Given the description of an element on the screen output the (x, y) to click on. 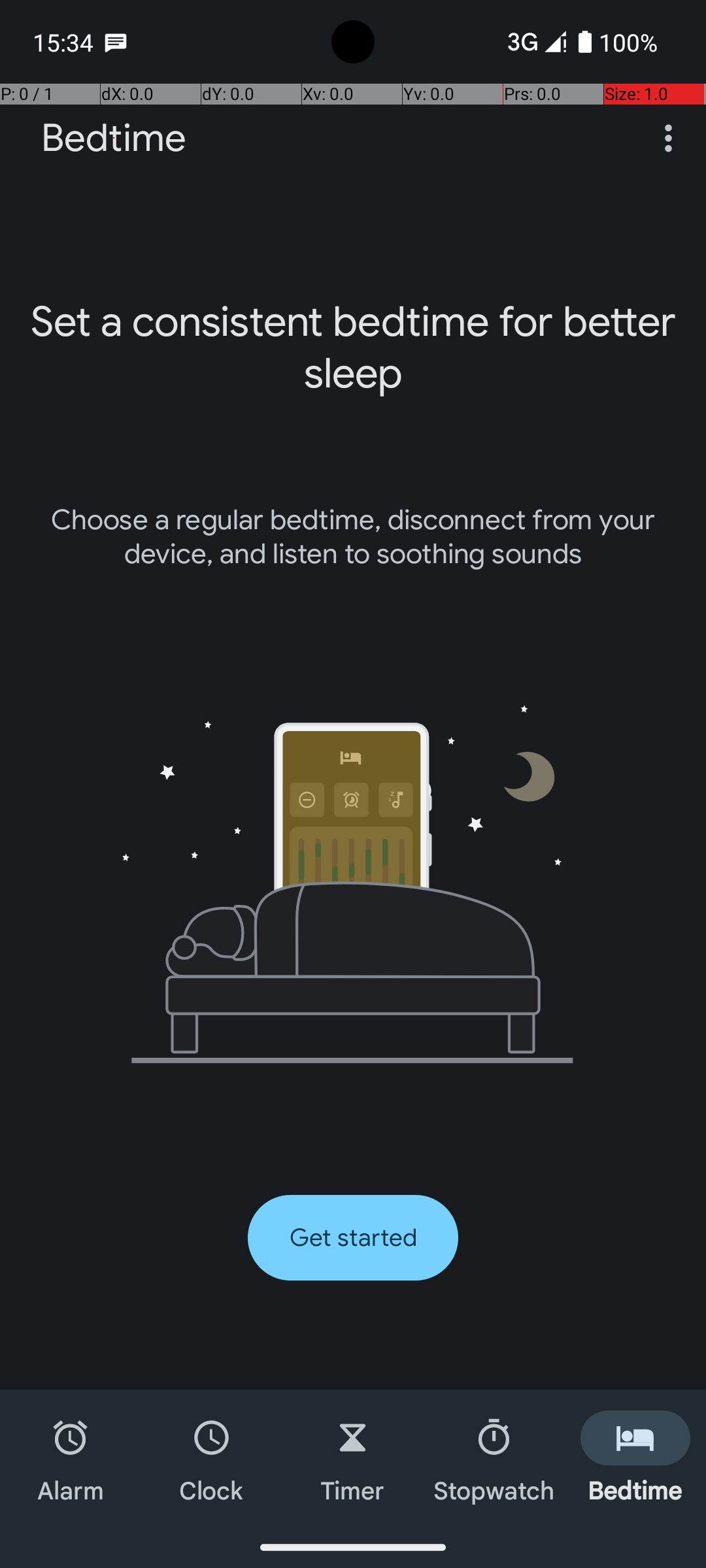
Set a consistent bedtime for better sleep Element type: android.widget.TextView (352, 347)
Choose a regular bedtime, disconnect from your device, and listen to soothing sounds Element type: android.widget.TextView (352, 536)
SMS Messenger notification: Matteo Ibrahim Element type: android.widget.ImageView (115, 41)
